Given the description of an element on the screen output the (x, y) to click on. 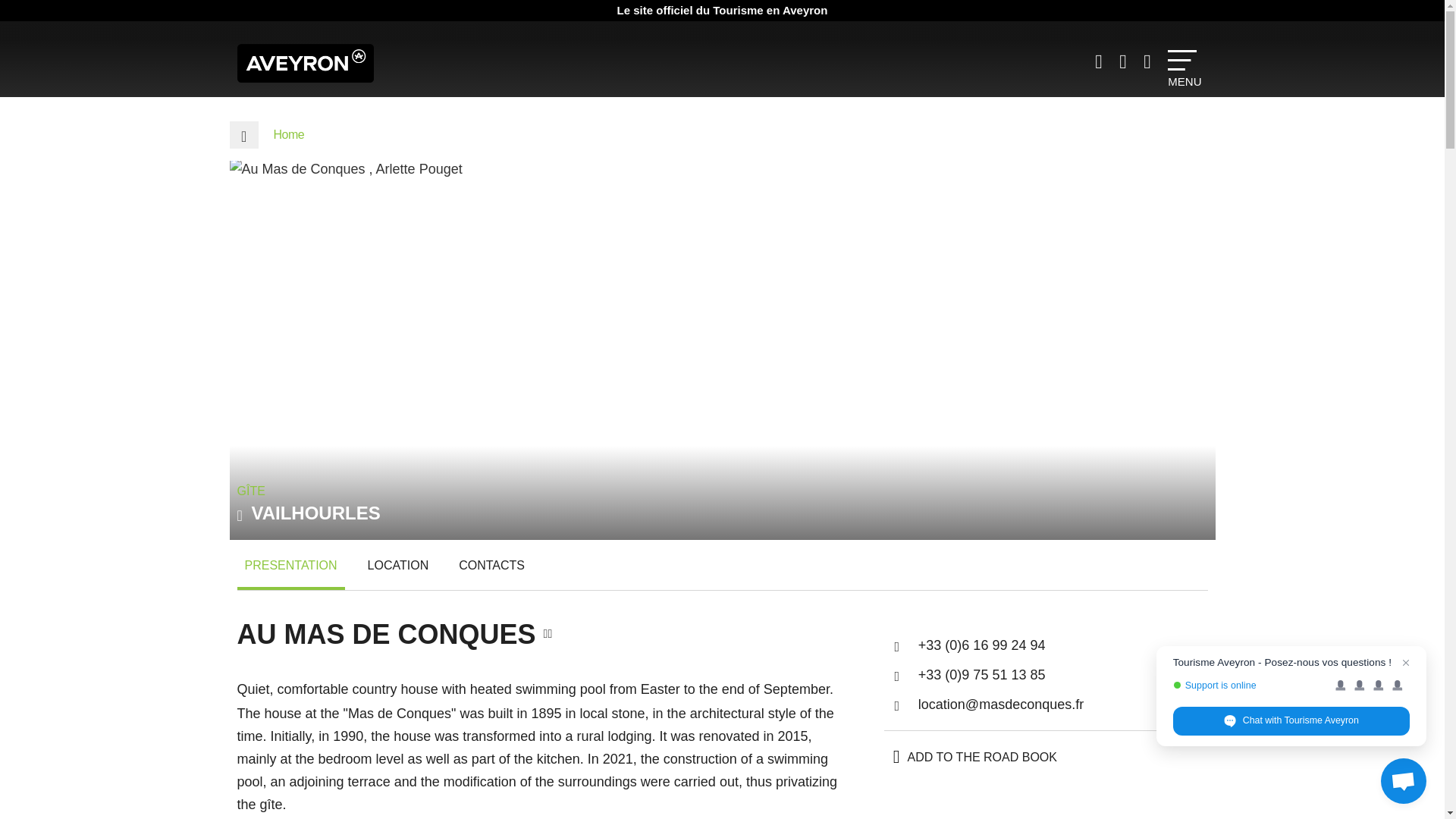
Rechercher dans le site (1149, 61)
Roadbook (1125, 61)
USEFUL INFORMATION (1100, 61)
